Given the description of an element on the screen output the (x, y) to click on. 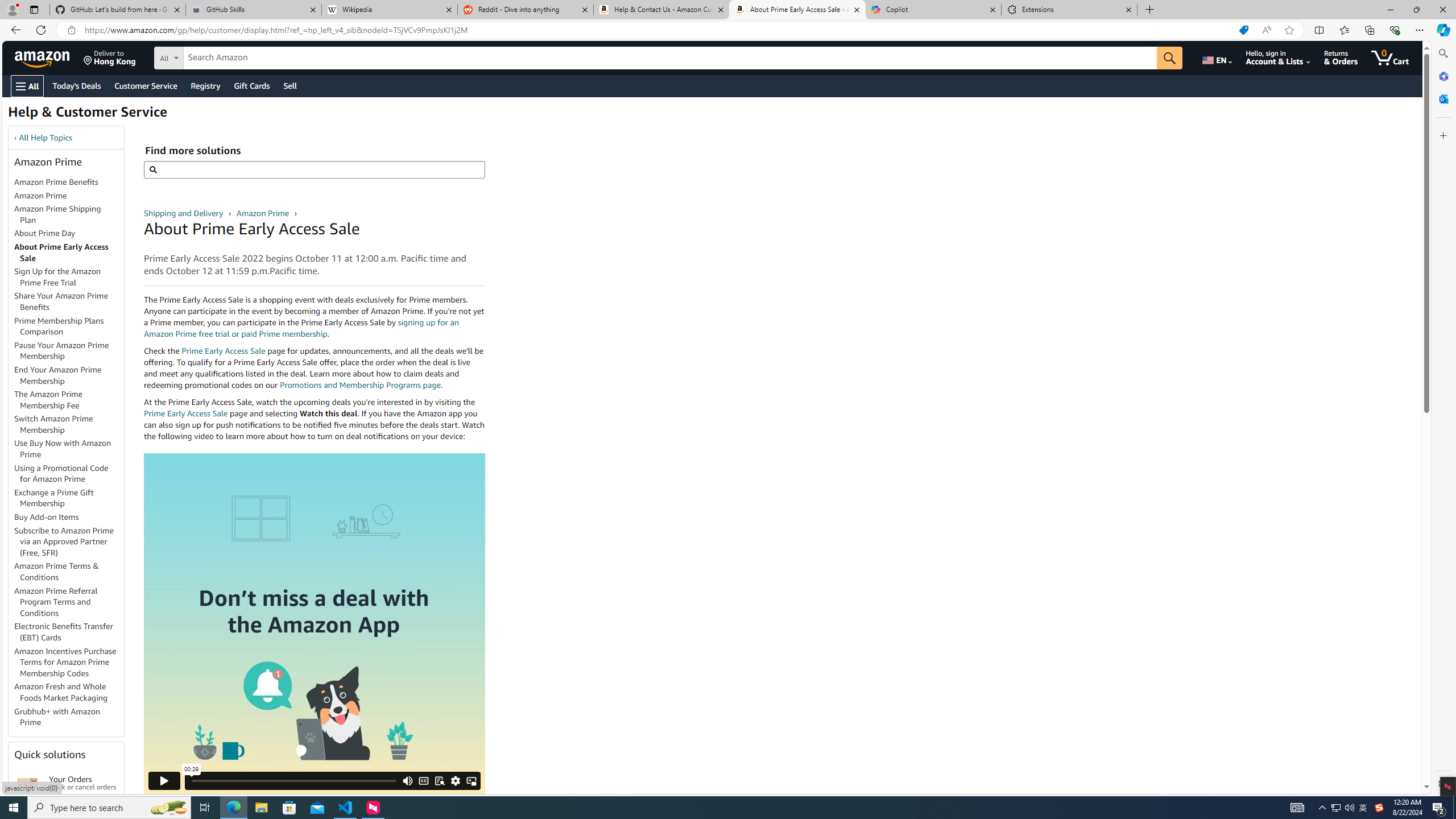
Sign Up for the Amazon Prime Free Trial (57, 276)
Grubhub+ with Amazon Prime (57, 716)
Amazon Prime Benefits (68, 182)
About Prime Day (44, 233)
Electronic Benefits Transfer (EBT) Cards (63, 631)
End Your Amazon Prime Membership (57, 374)
Today's Deals (76, 85)
Gift Cards (251, 85)
Help & Contact Us - Amazon Customer Service (660, 9)
Amazon Prime Referral Program Terms and Conditions (68, 602)
CC/Subtitles (423, 780)
Using a Promotional Code for Amazon Prime (61, 473)
GitHub Skills (253, 9)
